Given the description of an element on the screen output the (x, y) to click on. 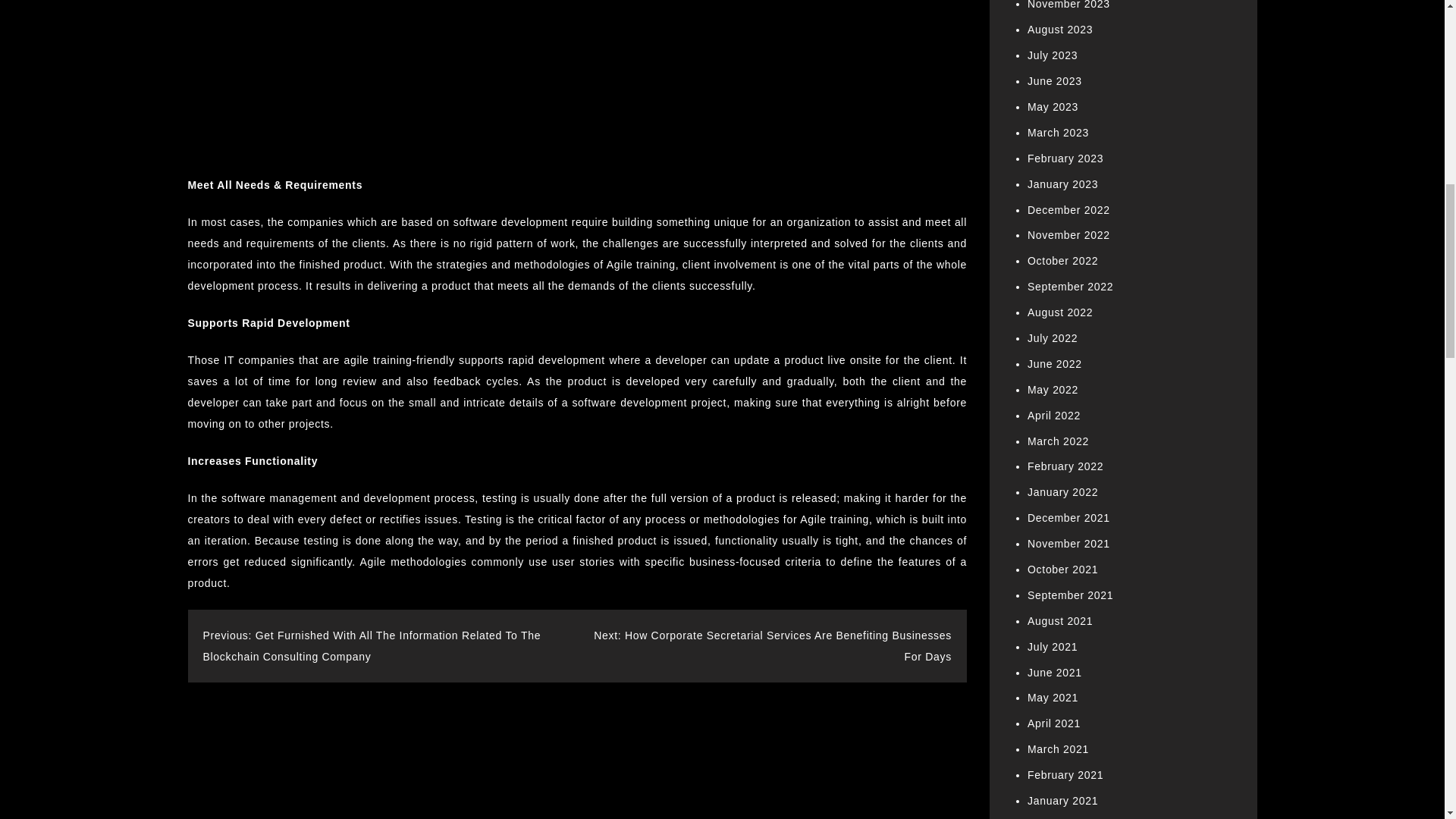
February 2023 (1065, 158)
May 2022 (1052, 389)
September 2022 (1070, 286)
November 2023 (1068, 4)
March 2023 (1058, 132)
June 2022 (1054, 363)
August 2023 (1060, 29)
October 2022 (1062, 260)
December 2022 (1068, 209)
November 2022 (1068, 234)
May 2023 (1052, 106)
July 2023 (1052, 55)
June 2023 (1054, 80)
